Given the description of an element on the screen output the (x, y) to click on. 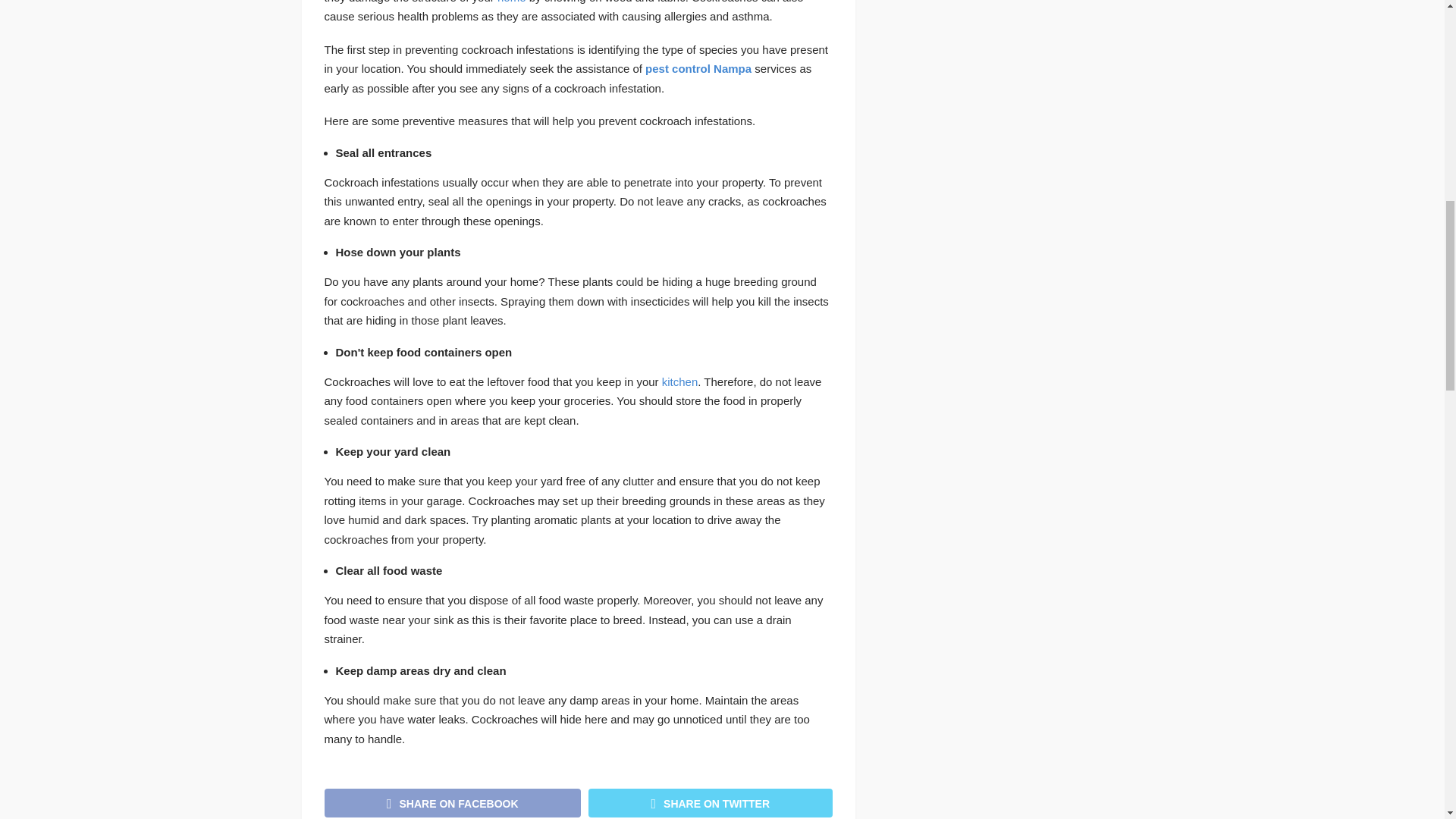
home (511, 2)
SHARE ON FACEBOOK (452, 802)
pest control Nampa (698, 68)
Posts tagged with home (511, 2)
kitchen (680, 381)
Posts tagged with kitchen (680, 381)
SHARE ON TWITTER (709, 802)
